Given the description of an element on the screen output the (x, y) to click on. 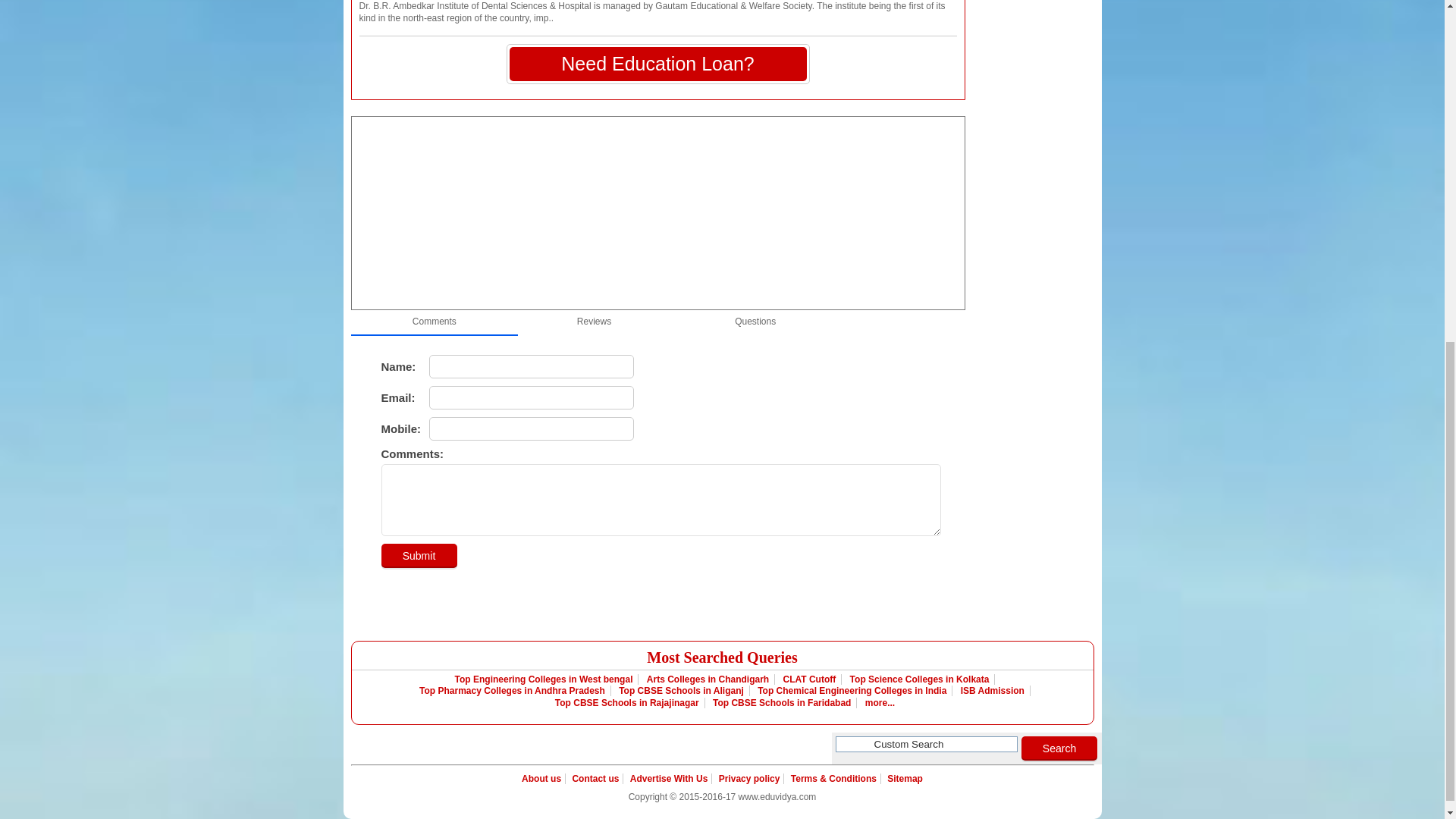
Top Chemical Engineering Colleges in India (852, 690)
Submit (418, 555)
more... (877, 702)
Search (1059, 748)
Contact us (595, 778)
Arts Colleges in Chandigarh (708, 679)
About us (543, 778)
Top Science Colleges in Kolkata (919, 679)
CLAT Cutoff (810, 679)
Submit (418, 555)
